Given the description of an element on the screen output the (x, y) to click on. 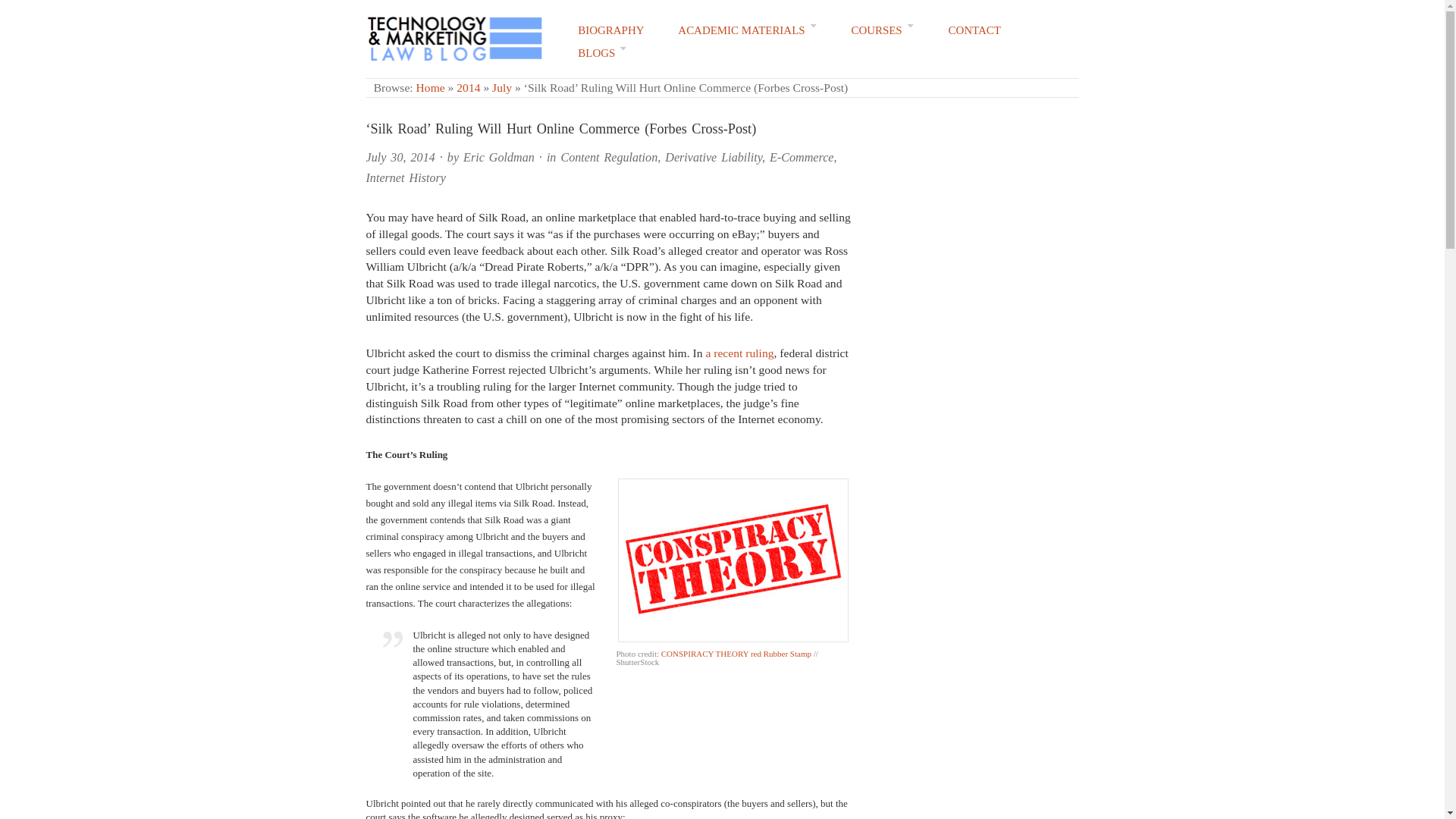
E-Commerce (801, 156)
a recent ruling (738, 352)
Internet History (405, 177)
BLOGS (602, 53)
BIOGRAPHY (610, 30)
July 30, 2014 (399, 156)
COURSES (882, 30)
July 2014 (502, 87)
July (502, 87)
2014 (468, 87)
